Given the description of an element on the screen output the (x, y) to click on. 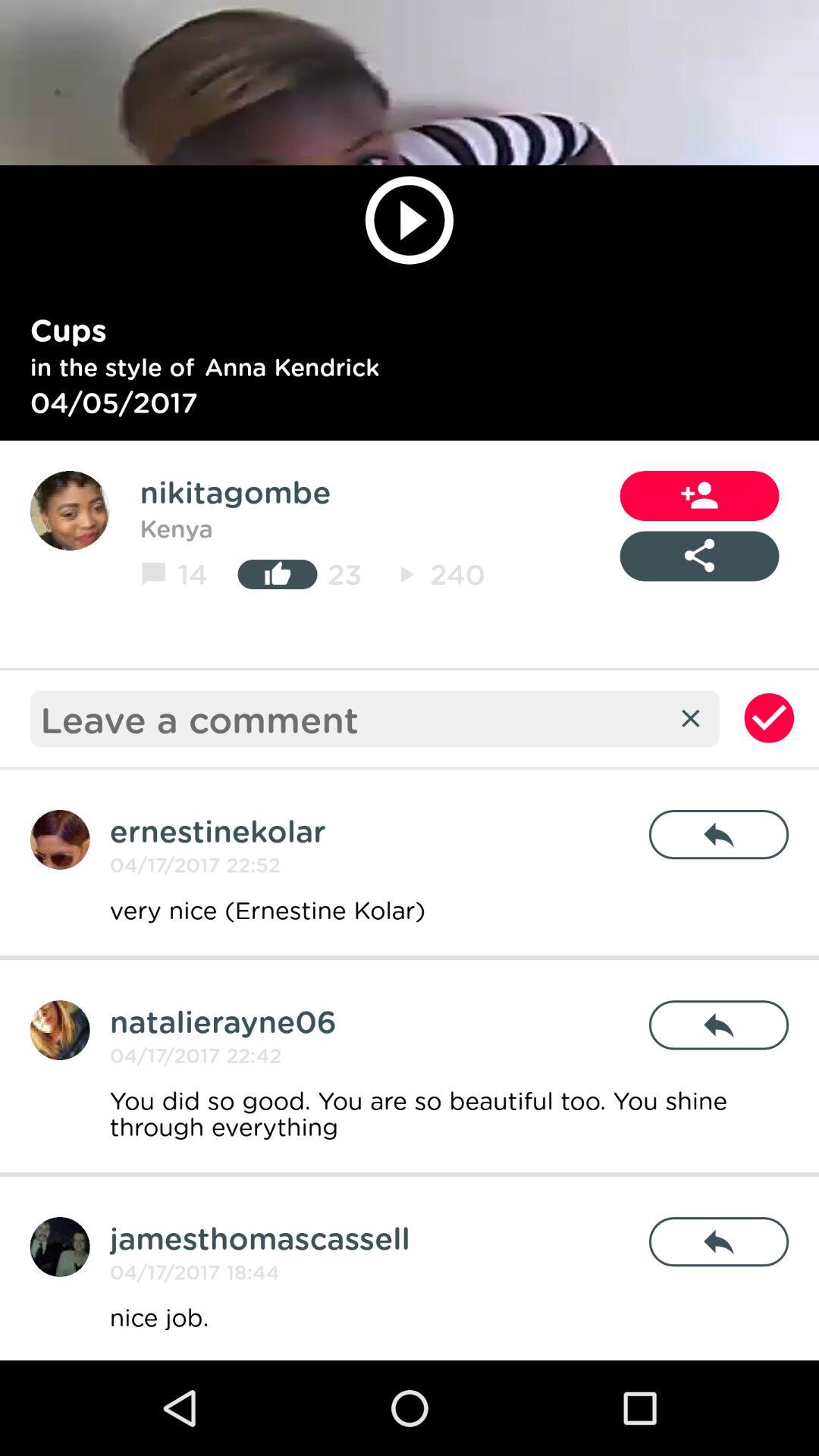
press the jamesthomascassell icon (259, 1237)
